Given the description of an element on the screen output the (x, y) to click on. 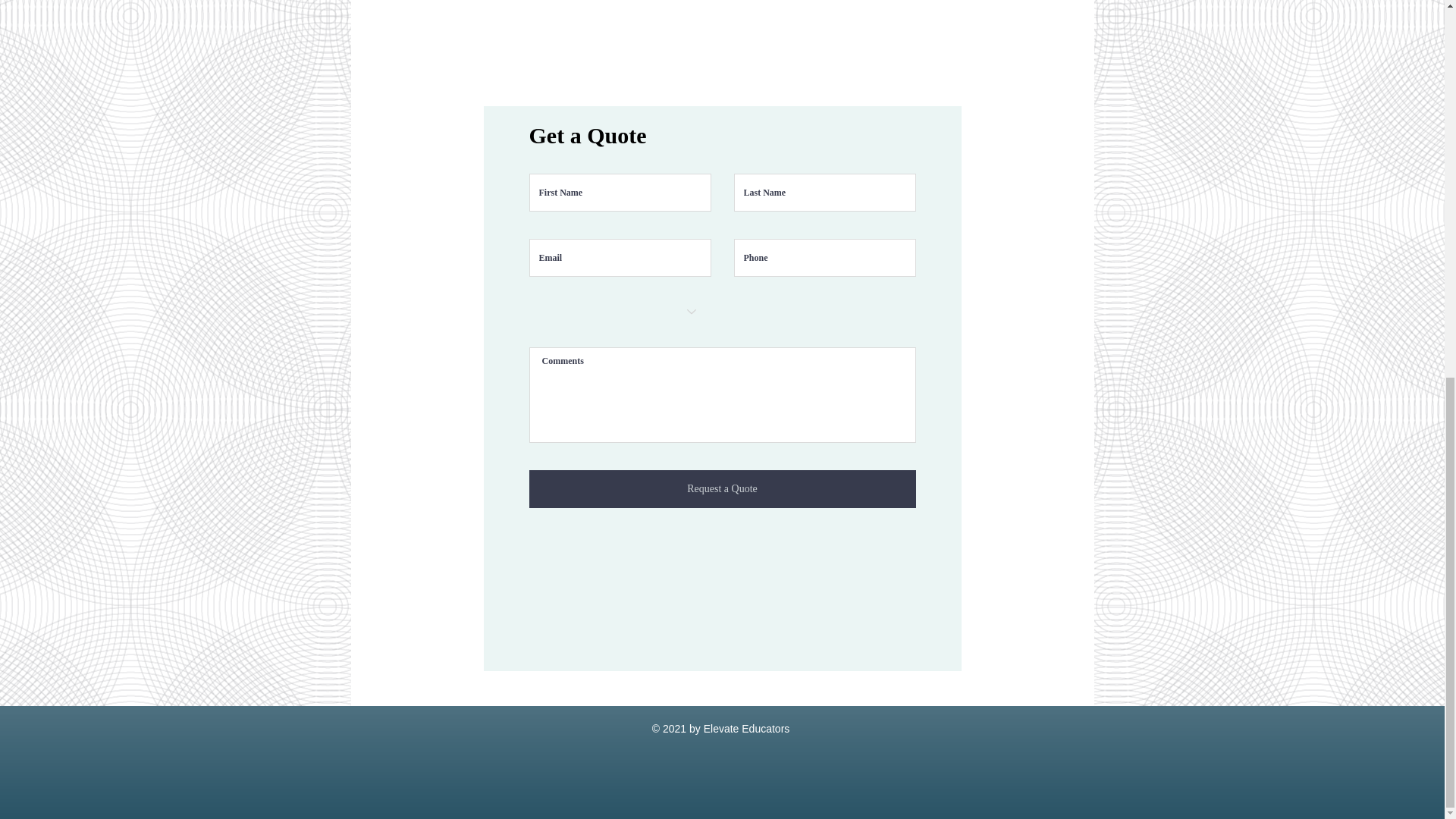
Request a Quote (722, 488)
